Given the description of an element on the screen output the (x, y) to click on. 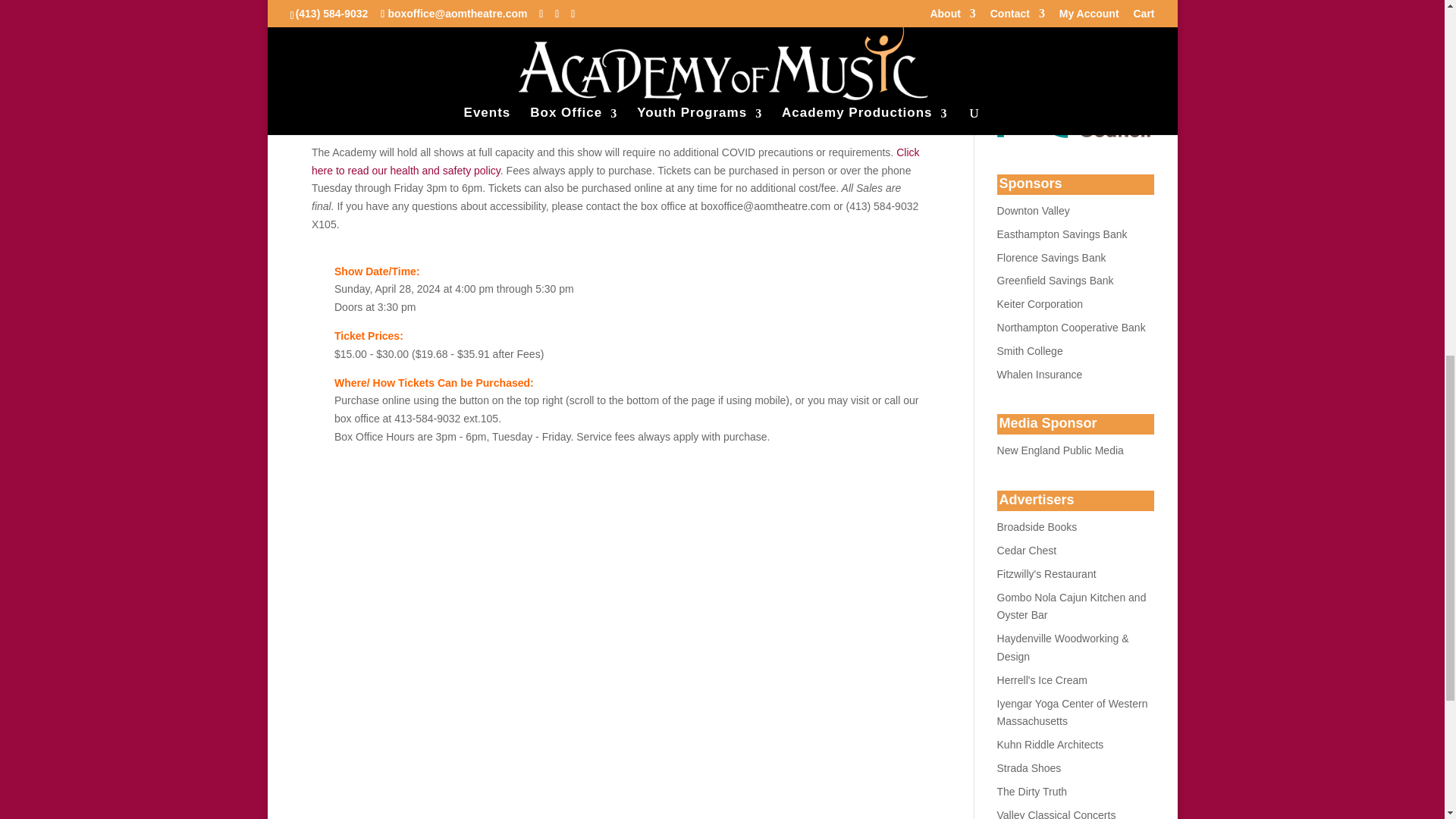
Northampton Chamber of Commerce (1046, 573)
